Given the description of an element on the screen output the (x, y) to click on. 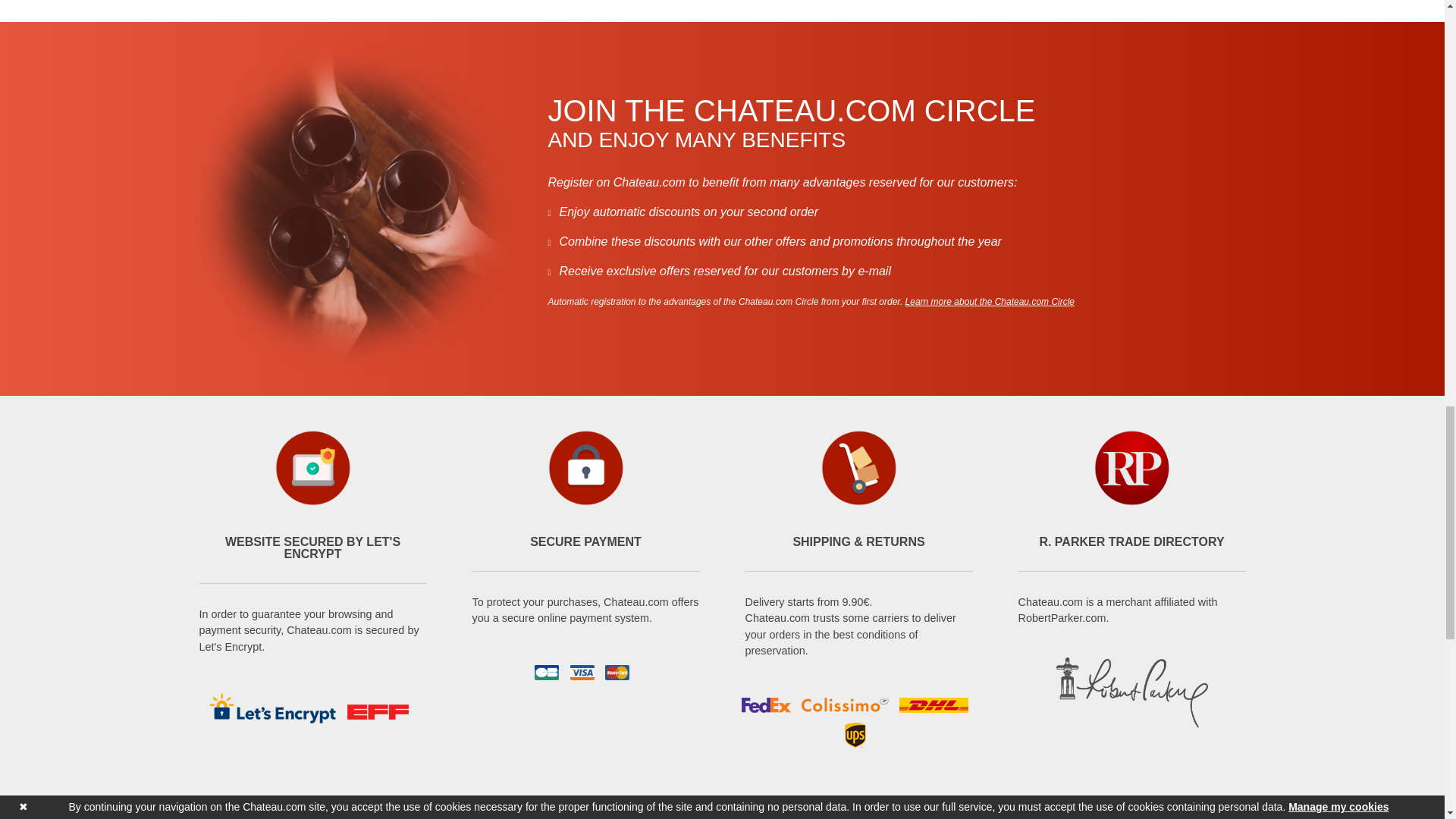
Cercle Chateau (989, 301)
